Given the description of an element on the screen output the (x, y) to click on. 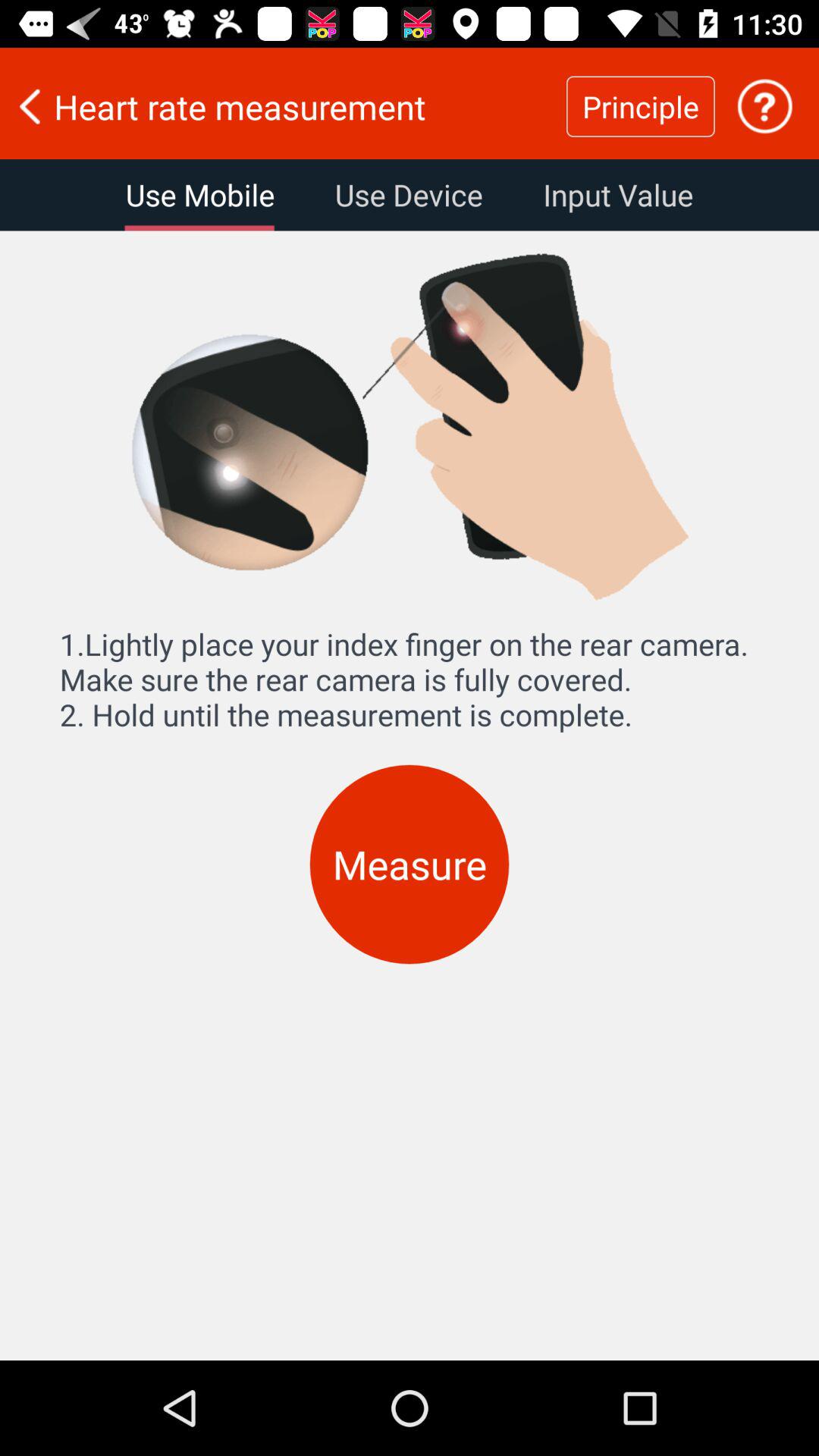
flip until use mobile (199, 194)
